Given the description of an element on the screen output the (x, y) to click on. 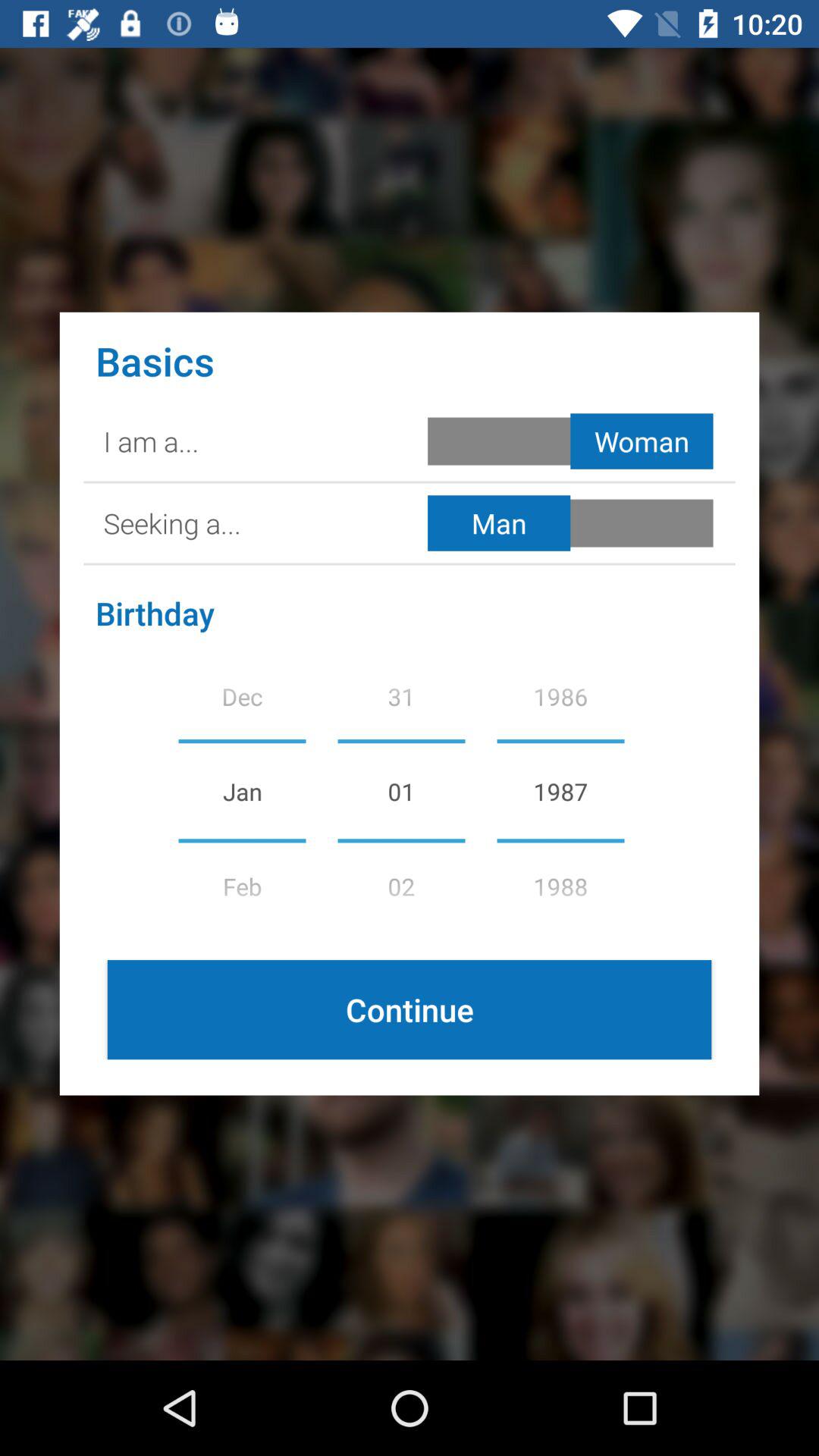
select gender toggle (573, 523)
